Given the description of an element on the screen output the (x, y) to click on. 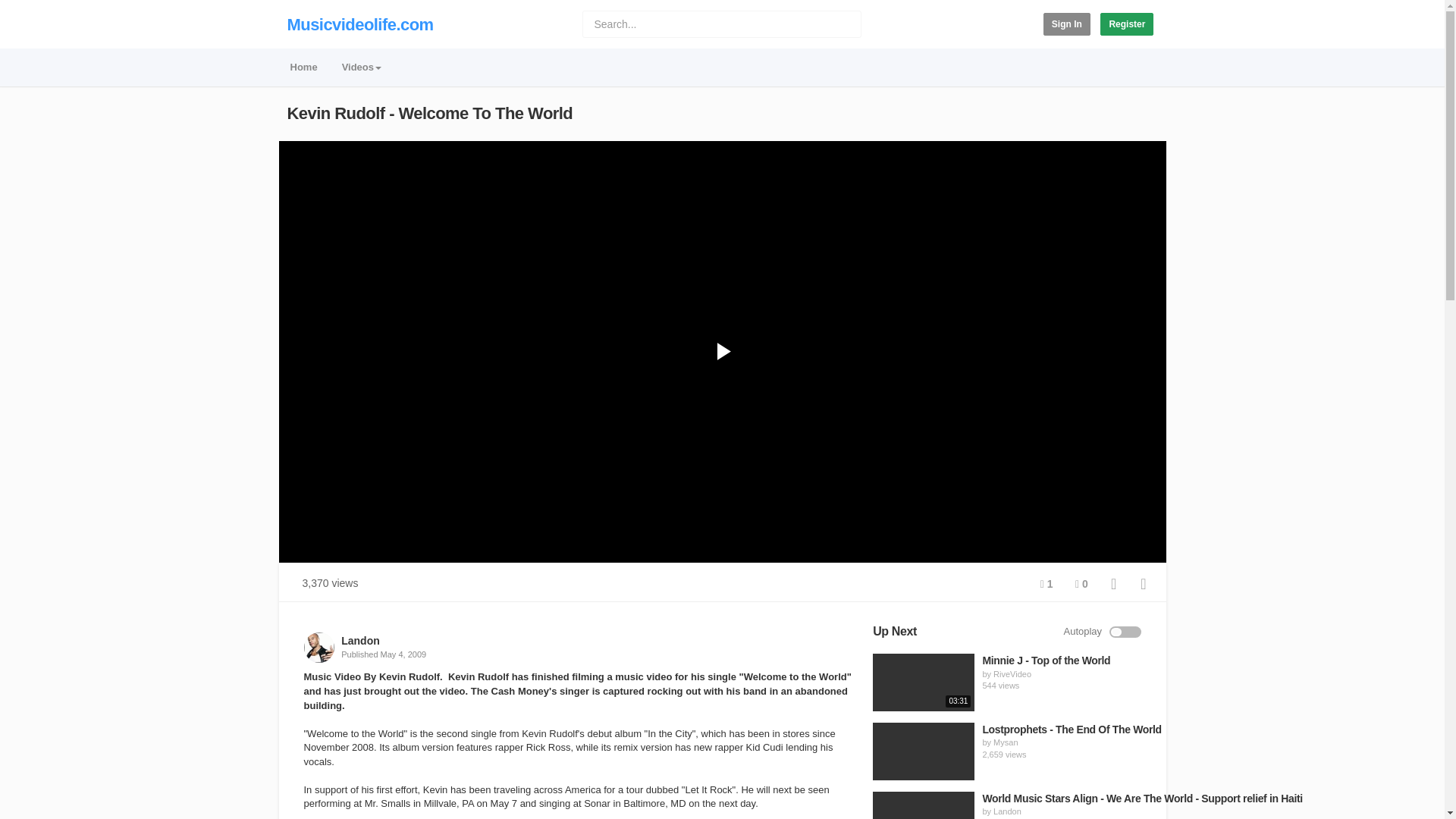
Musicvideolife.com (359, 24)
Sign In (1066, 24)
Monday, May 4, 2009 12:39 PM (403, 654)
Share (1112, 584)
Home (304, 67)
Play Video (721, 351)
Report this video (1143, 584)
Play Video (721, 351)
Videos (361, 67)
Register (1126, 24)
